Given the description of an element on the screen output the (x, y) to click on. 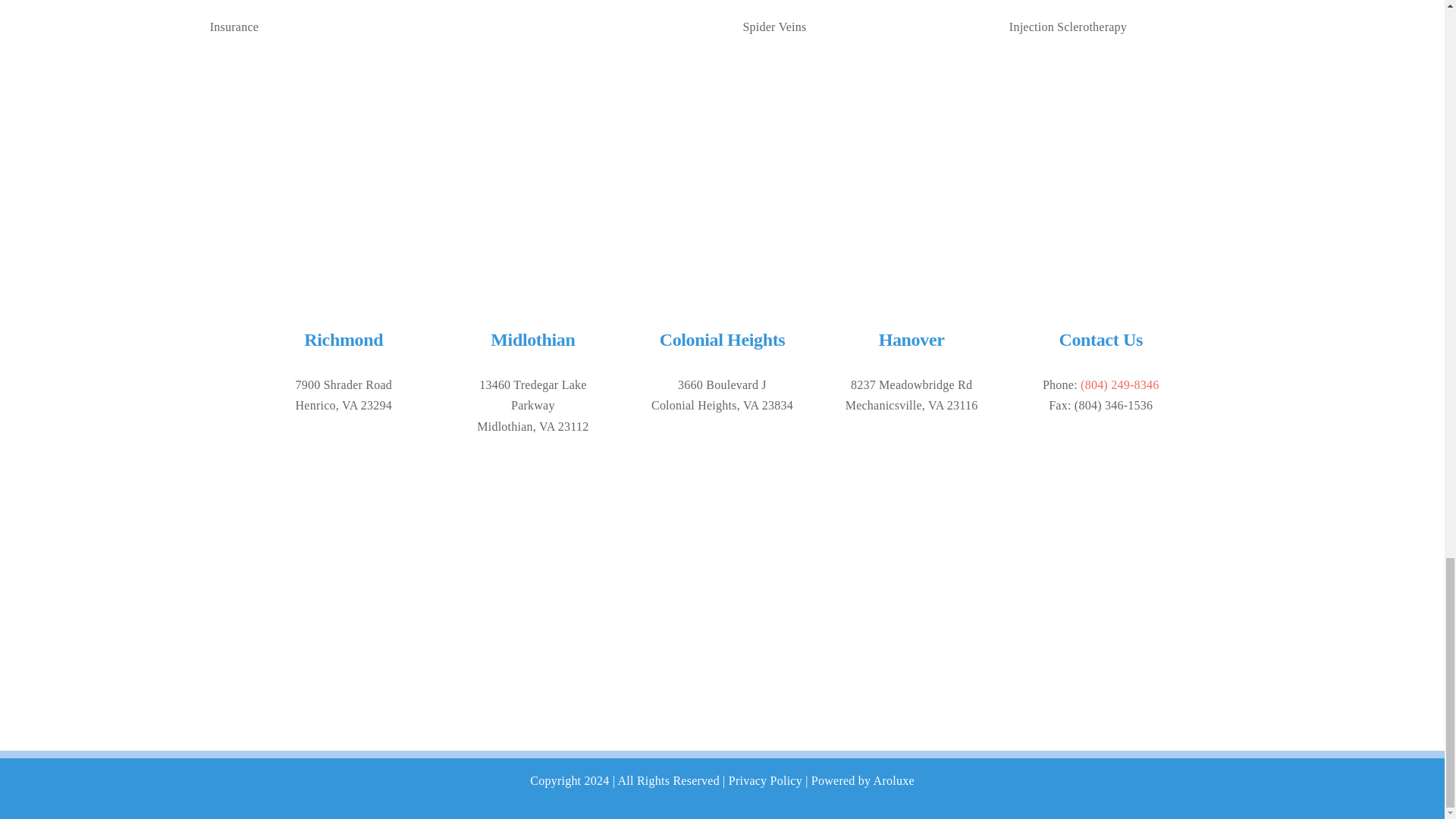
aaaasf-accredited-facility-web (343, 614)
RVC-Standard-Web2 (721, 180)
